Given the description of an element on the screen output the (x, y) to click on. 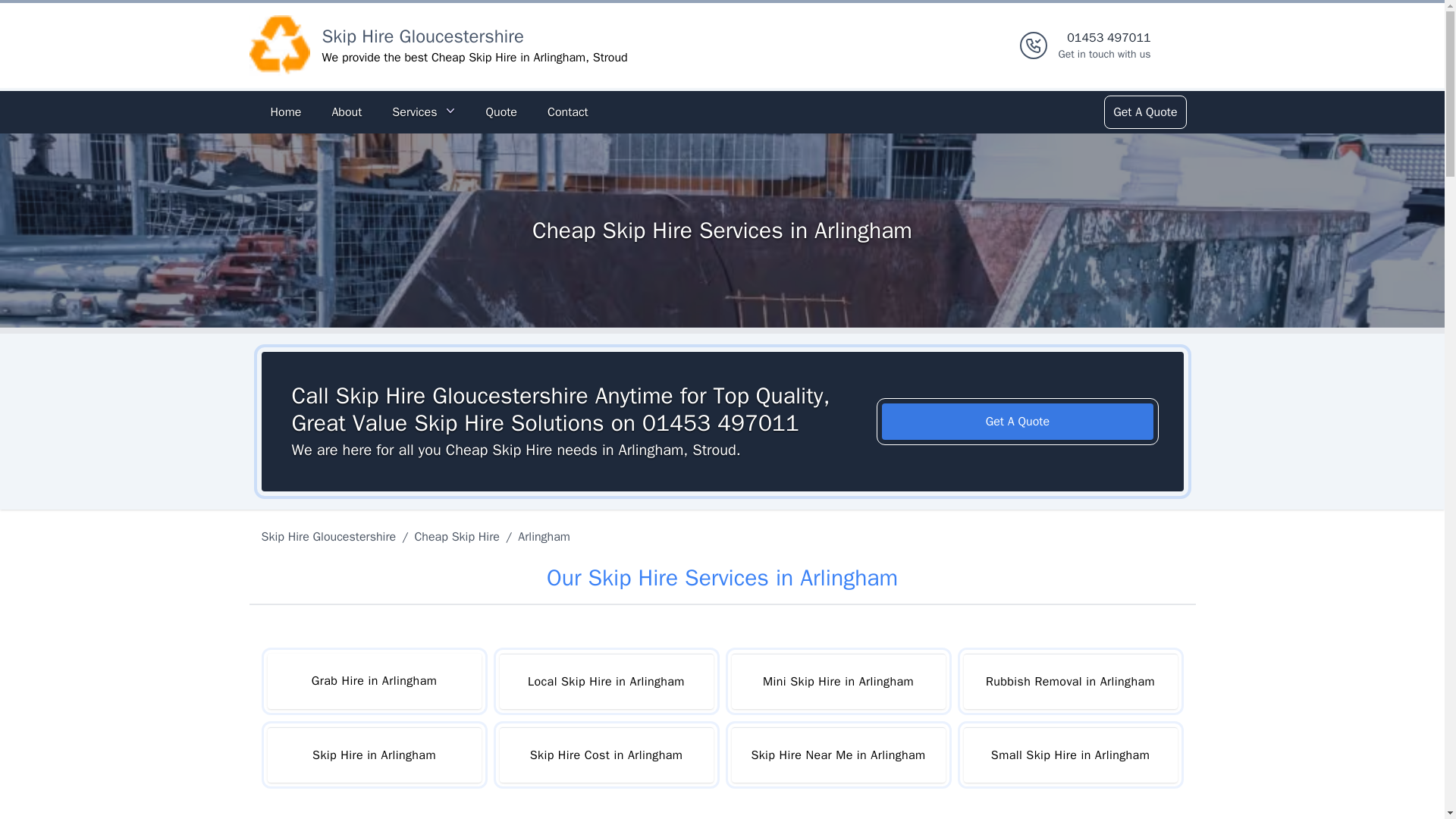
Grab Hire in Arlingham (373, 681)
Skip Hire Near Me in Arlingham (837, 754)
About (346, 112)
Skip Hire Gloucestershire (330, 536)
Cheap Skip Hire (456, 536)
Rubbish Removal in Arlingham (1069, 681)
Local Skip Hire in Arlingham (606, 681)
Contact (567, 112)
Skip Hire Cost in Arlingham (606, 754)
Skip Hire in Arlingham (373, 754)
